Given the description of an element on the screen output the (x, y) to click on. 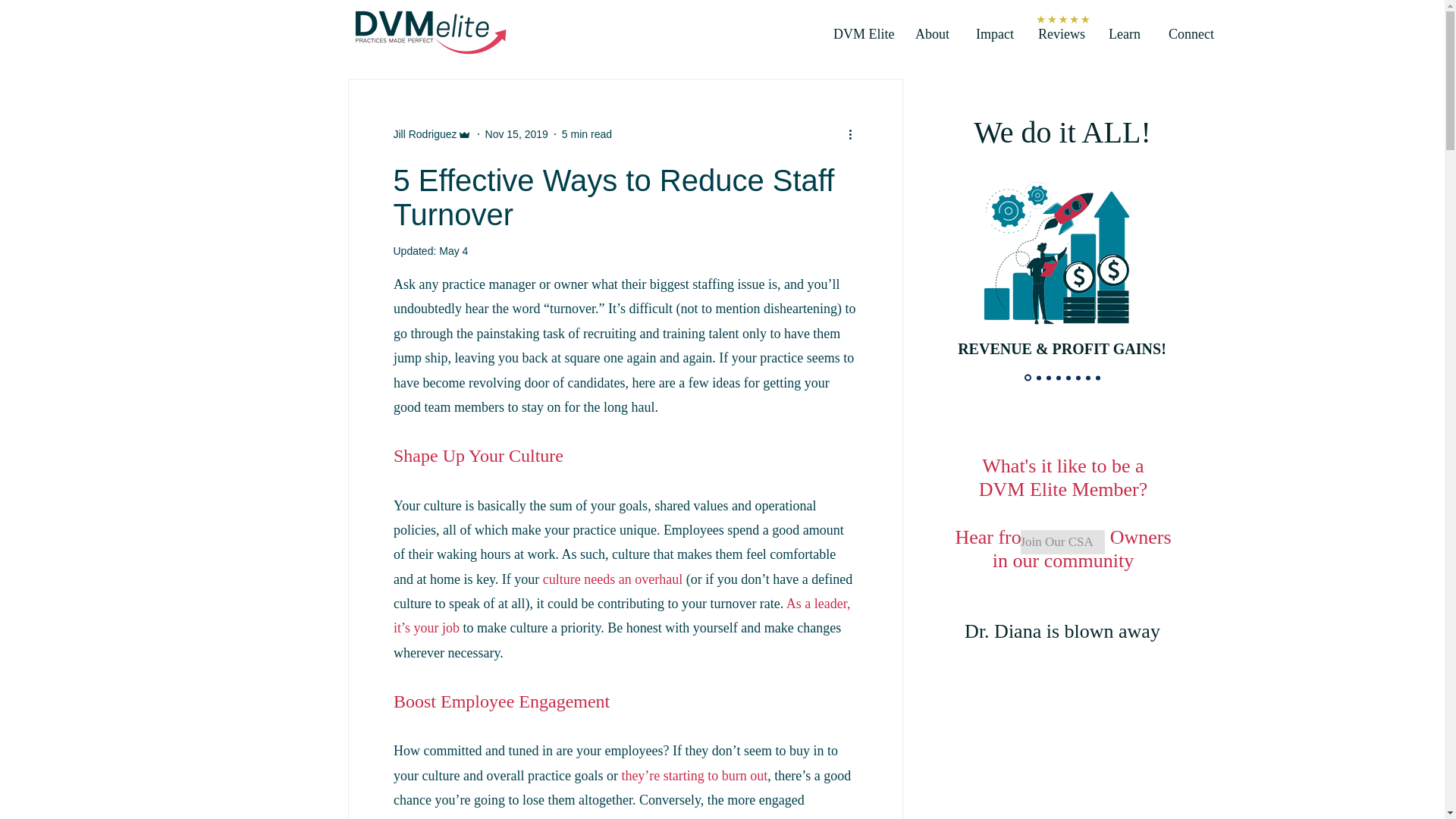
May 4 (453, 250)
Connect (1188, 34)
Impact (992, 34)
Reviews (1060, 34)
5 min read (586, 133)
About (930, 34)
Nov 15, 2019 (516, 133)
culture needs an overhaul (611, 579)
Jill Rodriguez (425, 133)
Jill Rodriguez (431, 133)
DVM Elite (861, 34)
